Given the description of an element on the screen output the (x, y) to click on. 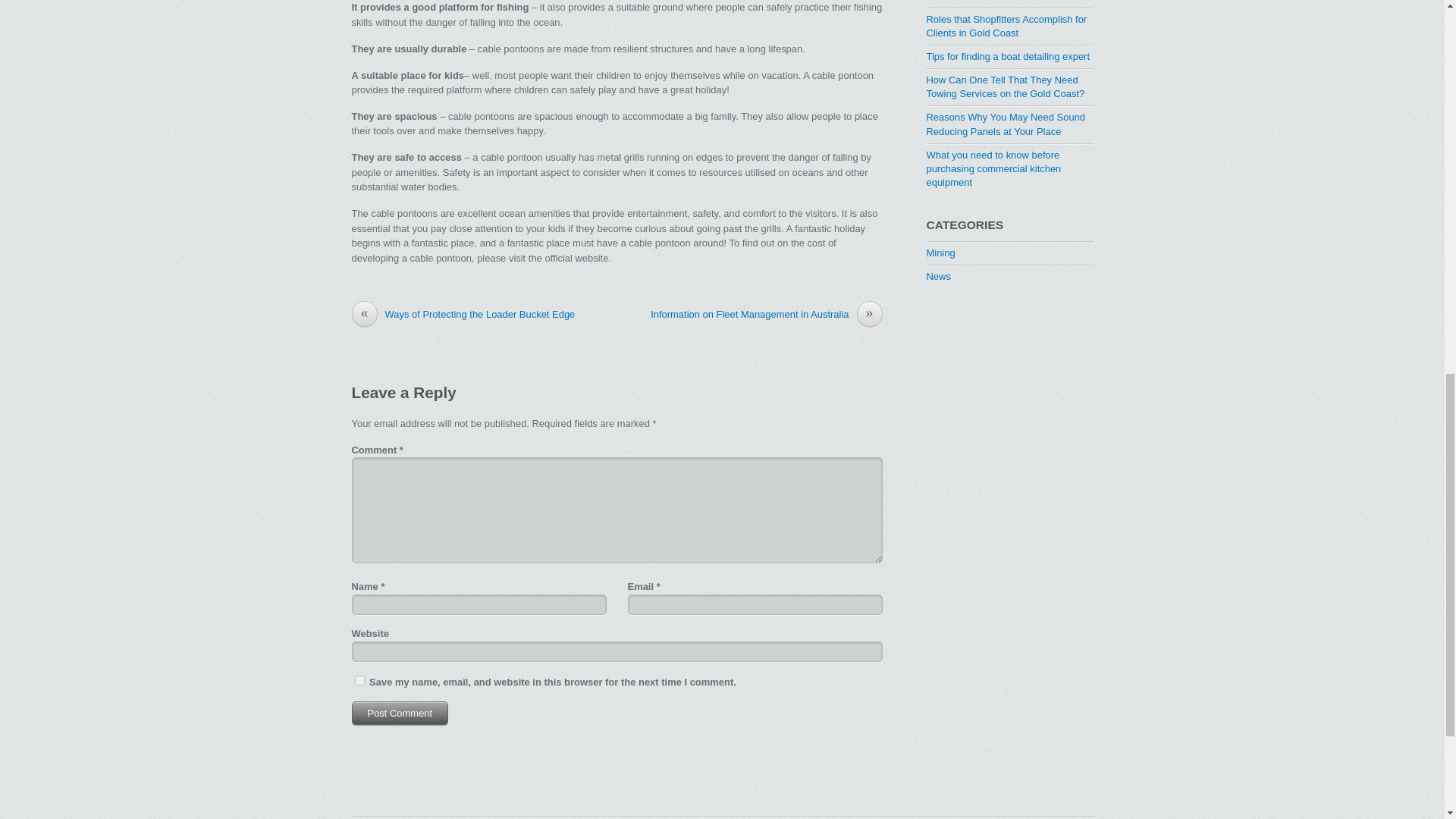
yes (360, 680)
Roles that Shopfitters Accomplish for Clients in Gold Coast (1006, 25)
Post Comment (400, 712)
Reasons Why You May Need Sound Reducing Panels at Your Place (1006, 123)
News (938, 276)
Post Comment (400, 712)
Mining (940, 252)
Tips for finding a boat detailing expert (1008, 56)
